Given the description of an element on the screen output the (x, y) to click on. 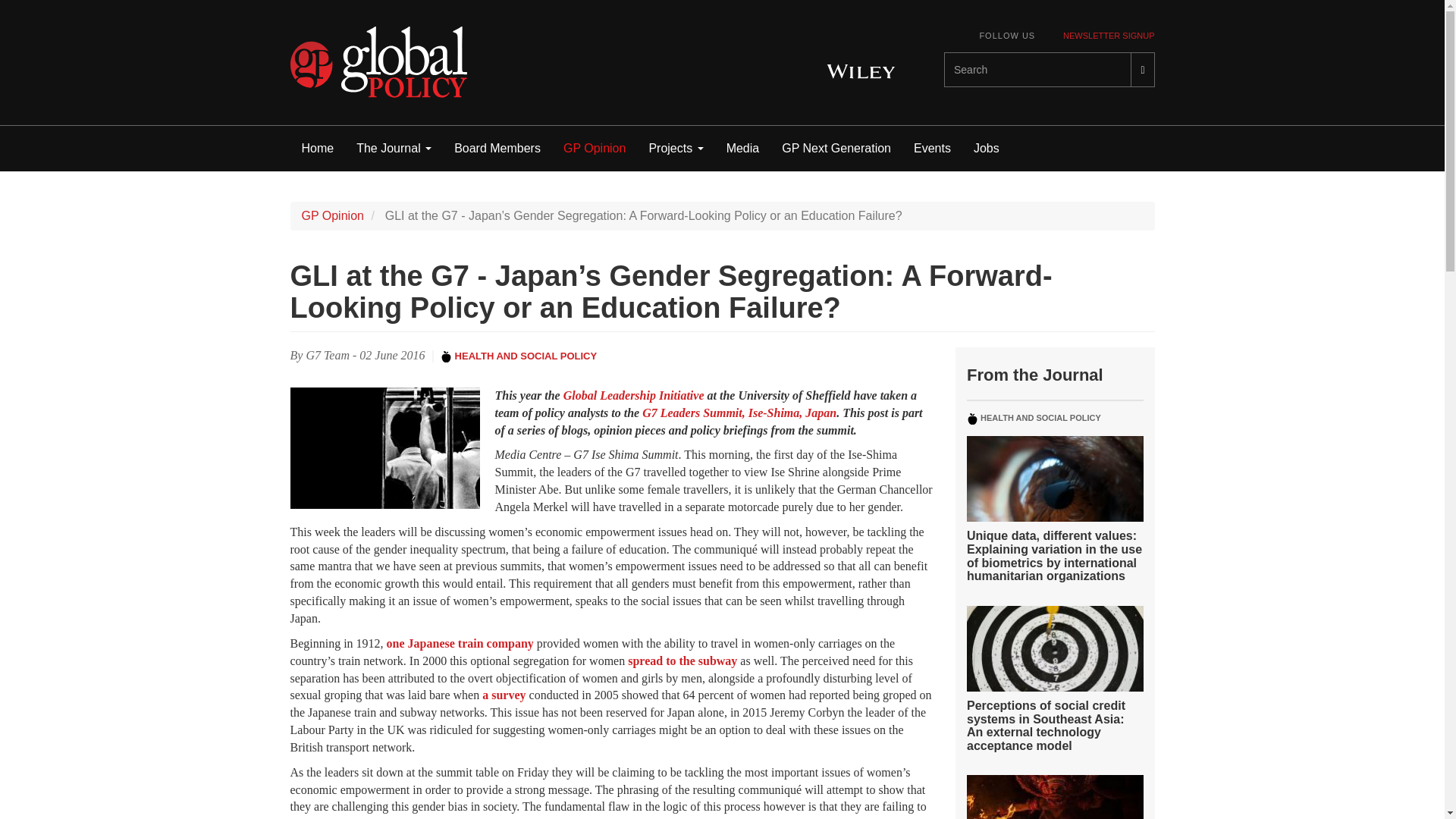
Enter the terms you wish to search for. (1037, 69)
GP Opinion (594, 148)
Global Policy Journal (377, 62)
Global Leadership Initiative (633, 395)
Projects (675, 148)
The Journal (393, 148)
NEWSLETTER SIGNUP (1108, 36)
GP Opinion (332, 215)
Events (932, 148)
GP Next Generation (836, 148)
